Given the description of an element on the screen output the (x, y) to click on. 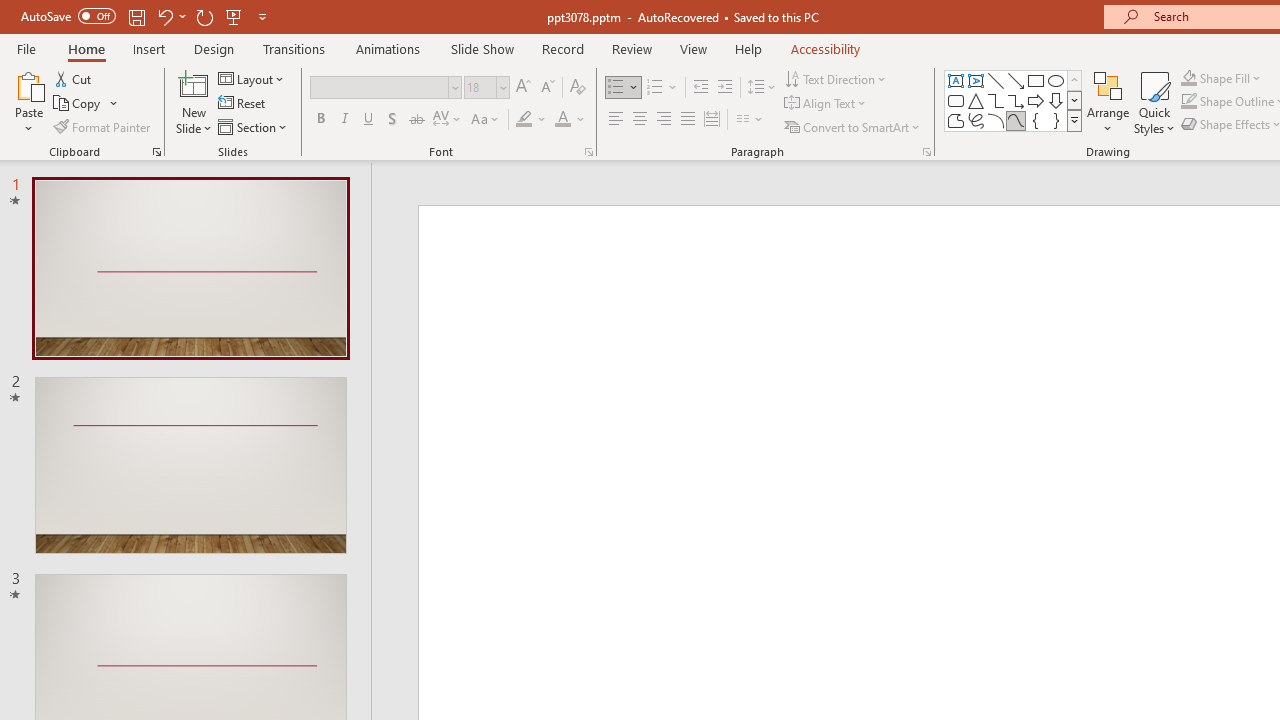
Font Color (569, 119)
Distributed (712, 119)
Freeform: Shape (955, 120)
Align Text (826, 103)
Right Brace (1055, 120)
Bold (320, 119)
Left Brace (1035, 120)
Line (995, 80)
